Given the description of an element on the screen output the (x, y) to click on. 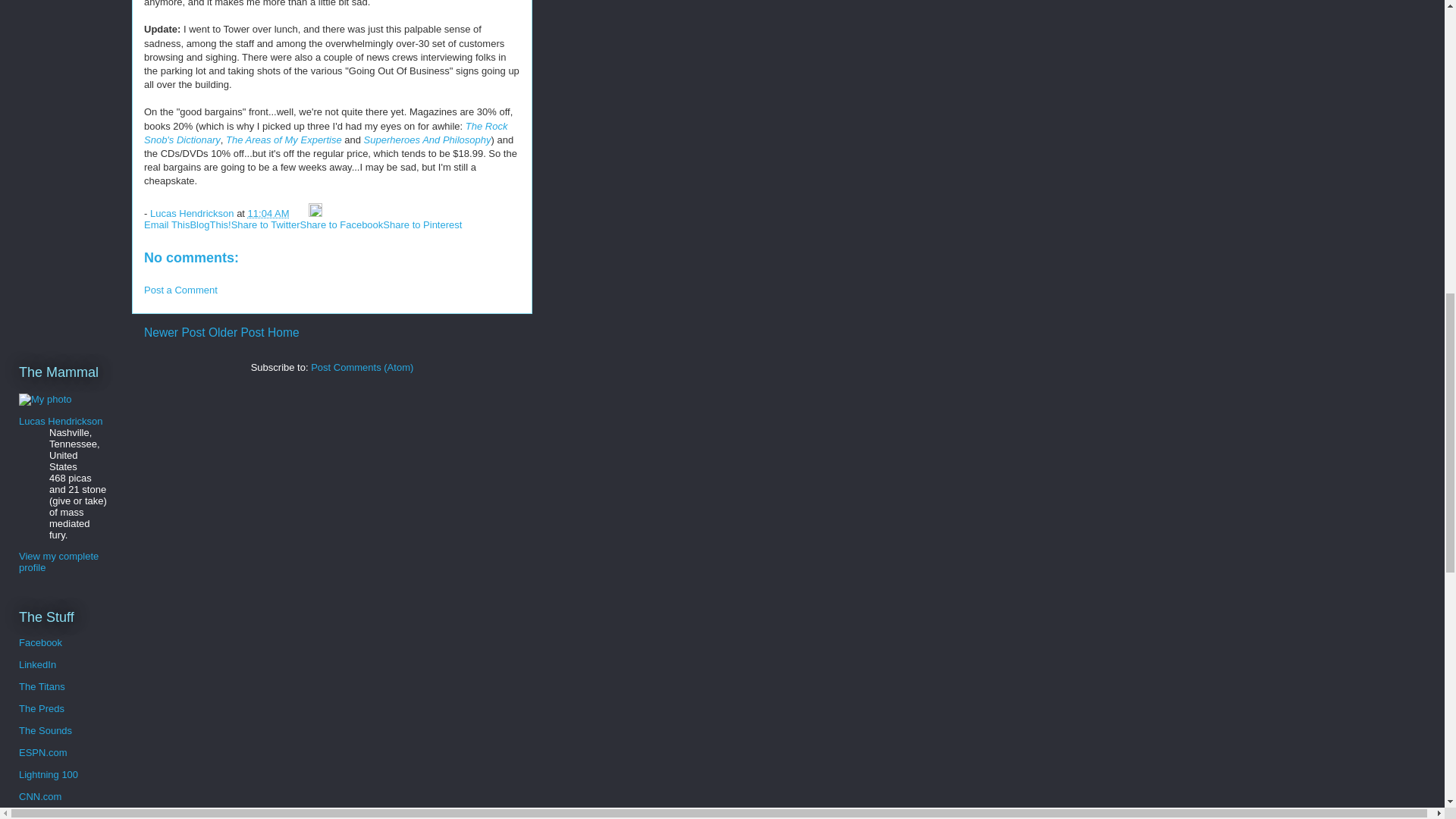
Share to Pinterest (421, 224)
Share to Pinterest (421, 224)
Email Post (300, 213)
Older Post (236, 332)
Email This (166, 224)
Post a Comment (180, 289)
permanent link (268, 213)
CNN.com (39, 796)
The Rock Snob's Dictionary (325, 132)
author profile (192, 213)
BlogThis! (209, 224)
View my complete profile (58, 561)
The Titans (41, 686)
Lucas Hendrickson (192, 213)
Older Post (236, 332)
